Given the description of an element on the screen output the (x, y) to click on. 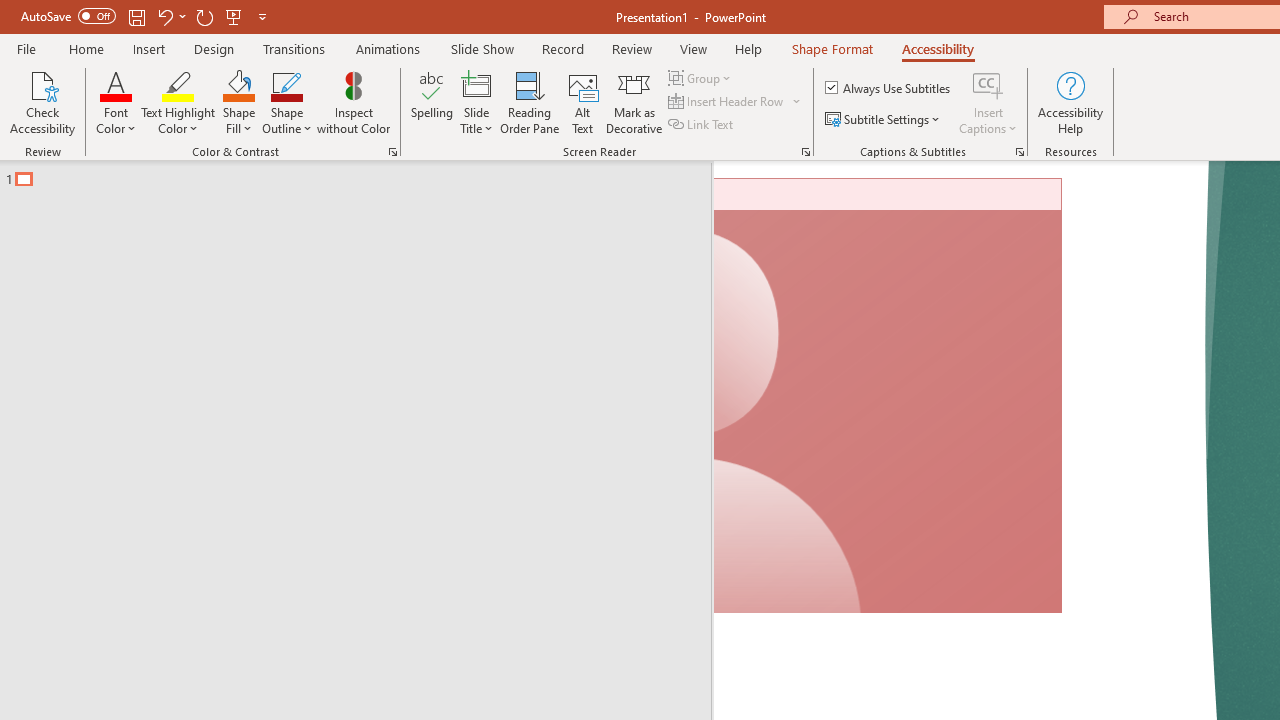
Always Use Subtitles (889, 87)
Accessibility Help (1070, 102)
